Given the description of an element on the screen output the (x, y) to click on. 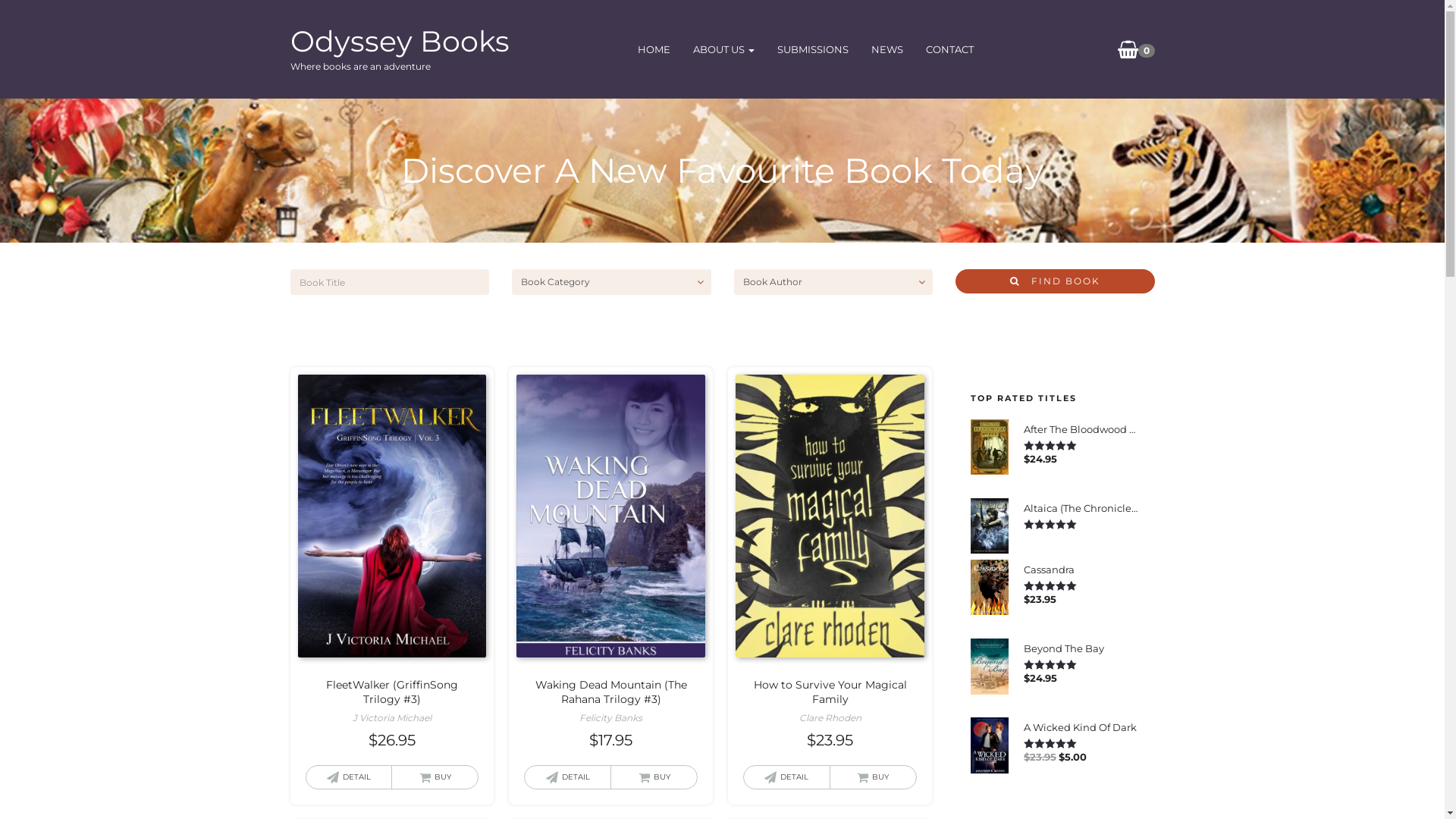
0 Element type: text (1128, 49)
DETAIL Element type: text (786, 776)
NEWS Element type: text (886, 49)
Beyond The Bay Element type: text (1081, 646)
CONTACT Element type: text (949, 49)
DETAIL Element type: text (349, 776)
  FIND BOOK Element type: text (1054, 281)
BUY Element type: text (873, 776)
Odyssey Books
Where books are an adventure Element type: text (398, 36)
BUY Element type: text (434, 776)
ABOUT US Element type: text (723, 49)
SUBMISSIONS Element type: text (812, 49)
BUY Element type: text (653, 776)
Cassandra Element type: text (1081, 568)
Altaica (The Chronicles Of Altaica #1) Element type: text (1081, 506)
How to Survive Your Magical Family
Clare Rhoden
$23.95 Element type: text (829, 562)
DETAIL Element type: text (567, 776)
HOME Element type: text (653, 49)
A Wicked Kind Of Dark Element type: text (1081, 725)
After The Bloodwood Staff Element type: text (1081, 427)
